Given the description of an element on the screen output the (x, y) to click on. 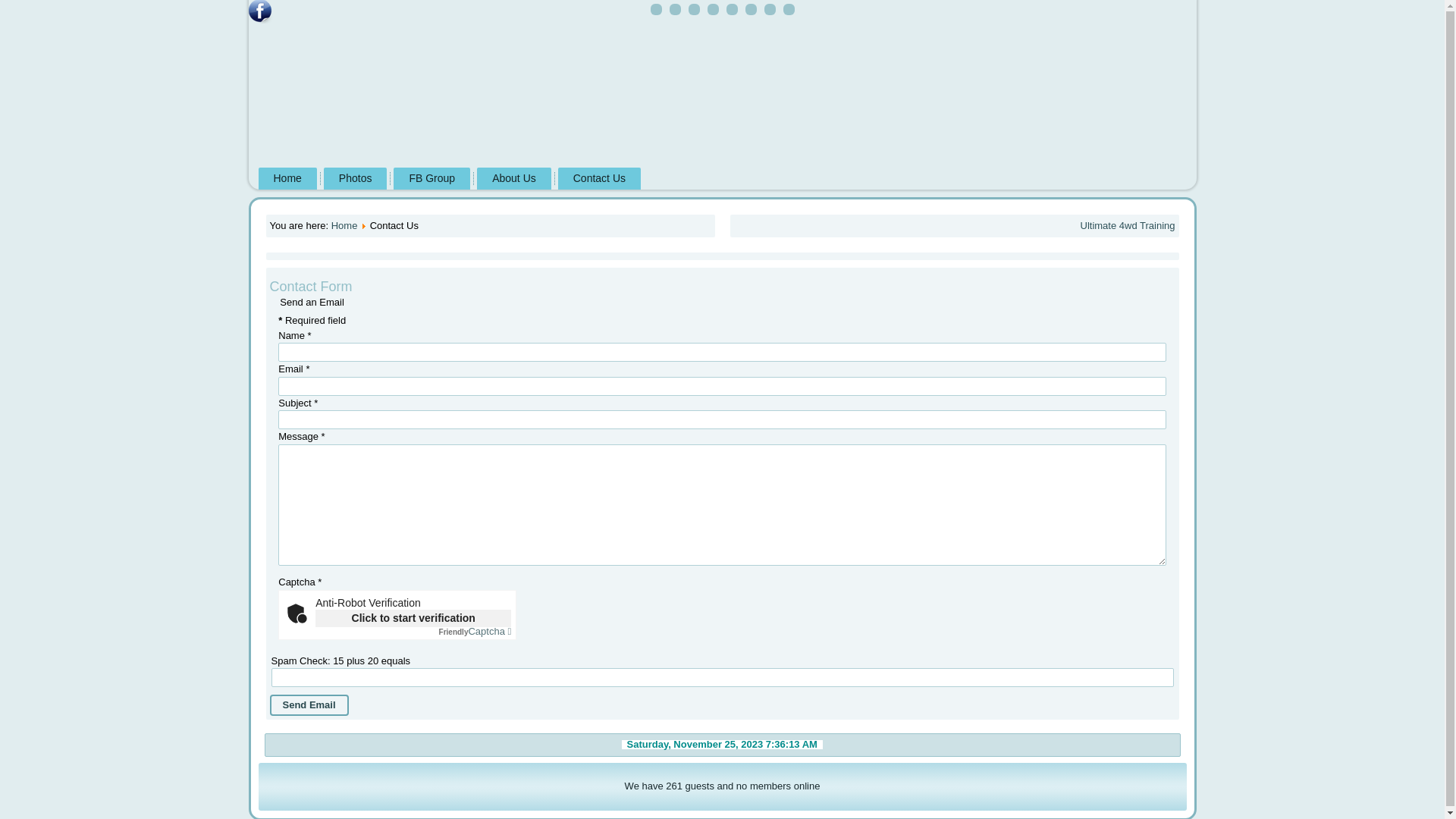
Ultimate 4wd Training Element type: text (1126, 225)
Contact Us Element type: text (599, 178)
Home Element type: text (286, 178)
Click to start verification Element type: text (413, 618)
Send Email Element type: text (308, 704)
Photos Element type: text (355, 178)
Home Element type: text (344, 225)
About Us Element type: text (513, 178)
FB Group Element type: text (431, 178)
